Given the description of an element on the screen output the (x, y) to click on. 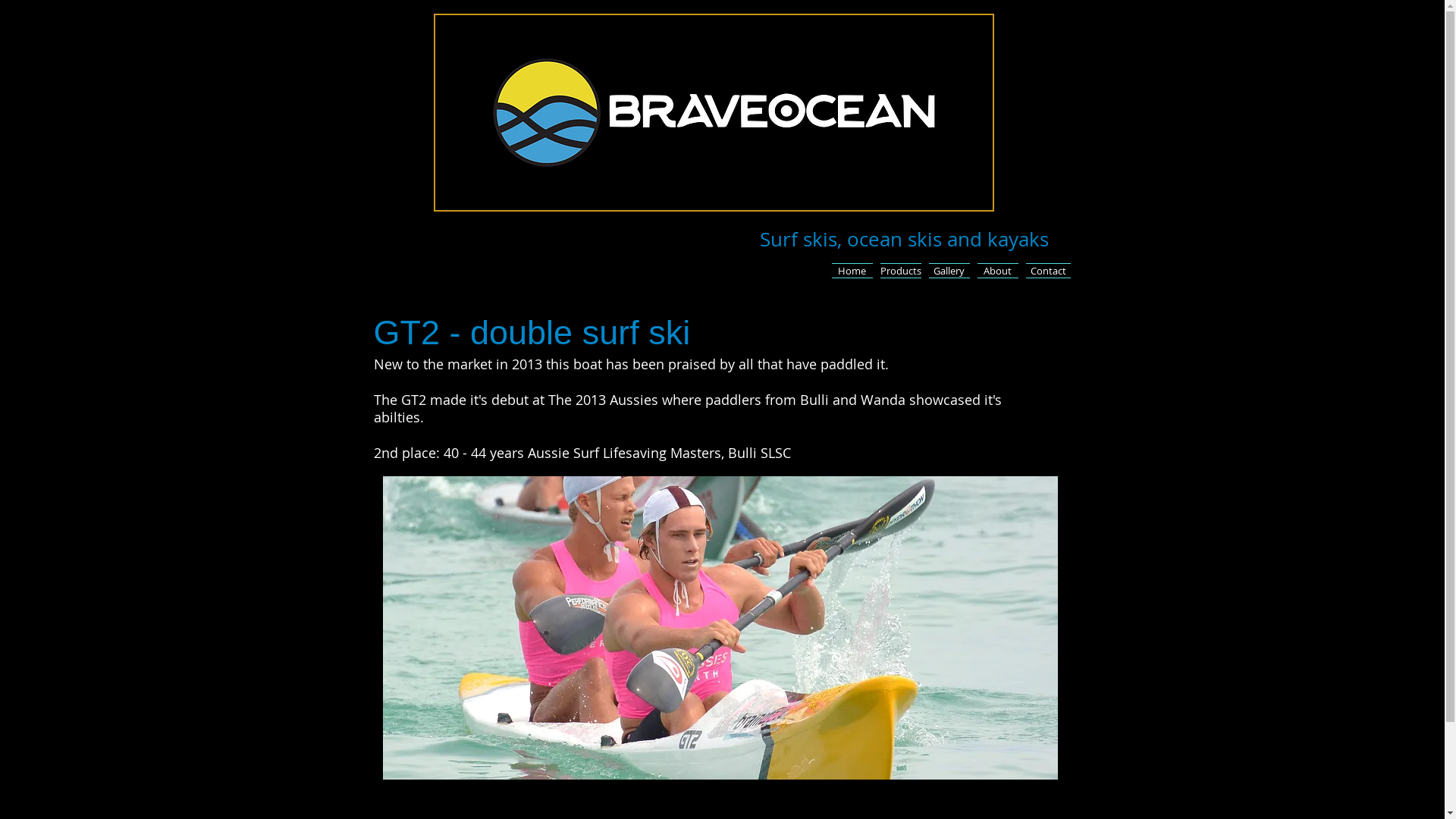
Contact Element type: text (1046, 270)
Home Element type: text (852, 270)
Products Element type: text (900, 270)
About Element type: text (997, 270)
Gallery Element type: text (949, 270)
